Given the description of an element on the screen output the (x, y) to click on. 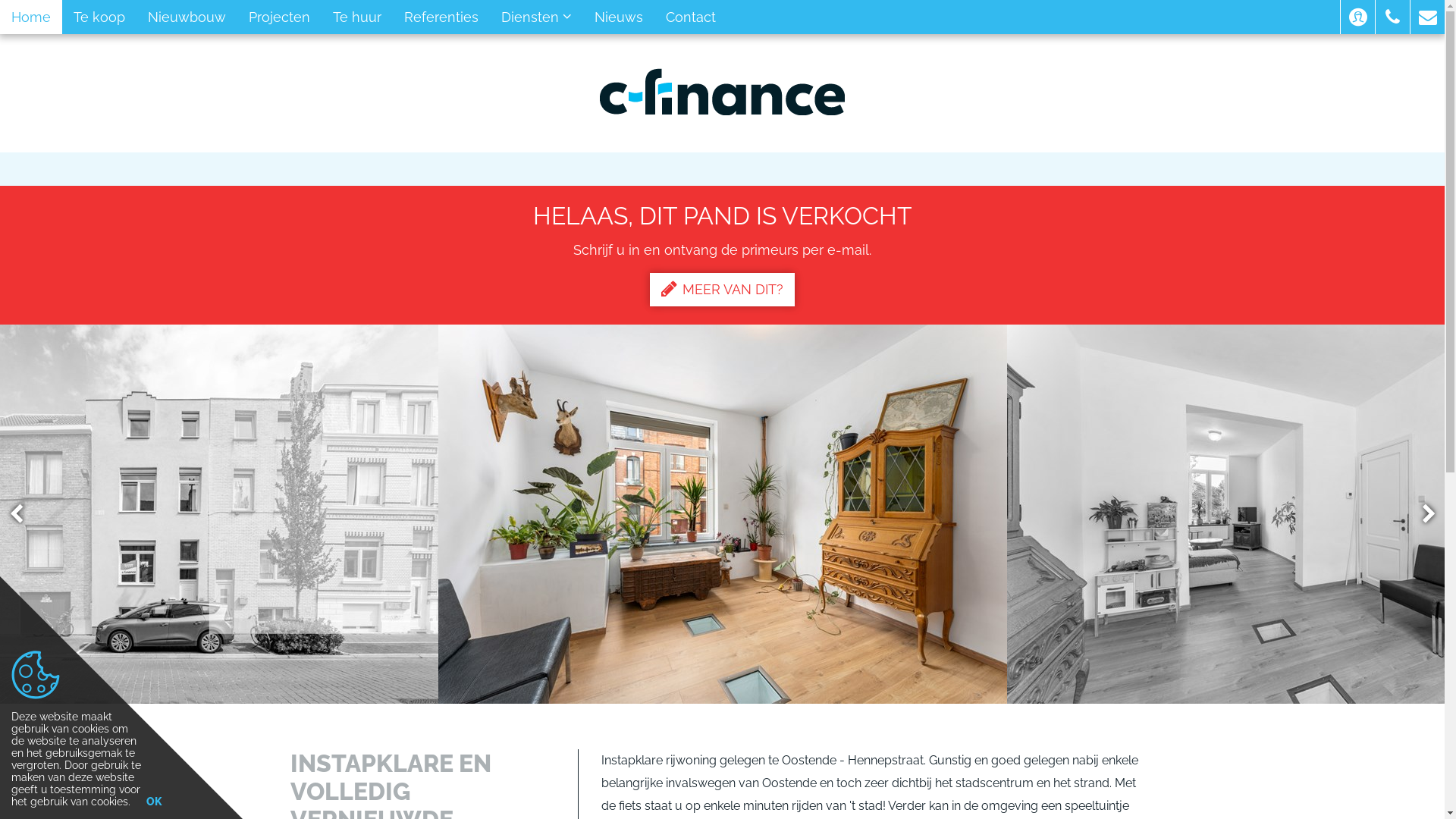
Contact Element type: text (690, 17)
Nieuws Element type: text (618, 17)
Diensten Element type: text (536, 17)
Next Element type: text (1421, 514)
Previous Element type: text (23, 514)
Projecten Element type: text (279, 17)
MEER VAN DIT? Element type: text (721, 289)
Te huur Element type: text (356, 17)
Home Element type: text (31, 17)
Eigenaarslogin Element type: hover (1357, 17)
Referenties Element type: text (440, 17)
Te koop Element type: text (99, 17)
Link homepage Element type: hover (721, 91)
Nieuwbouw Element type: text (186, 17)
